Given the description of an element on the screen output the (x, y) to click on. 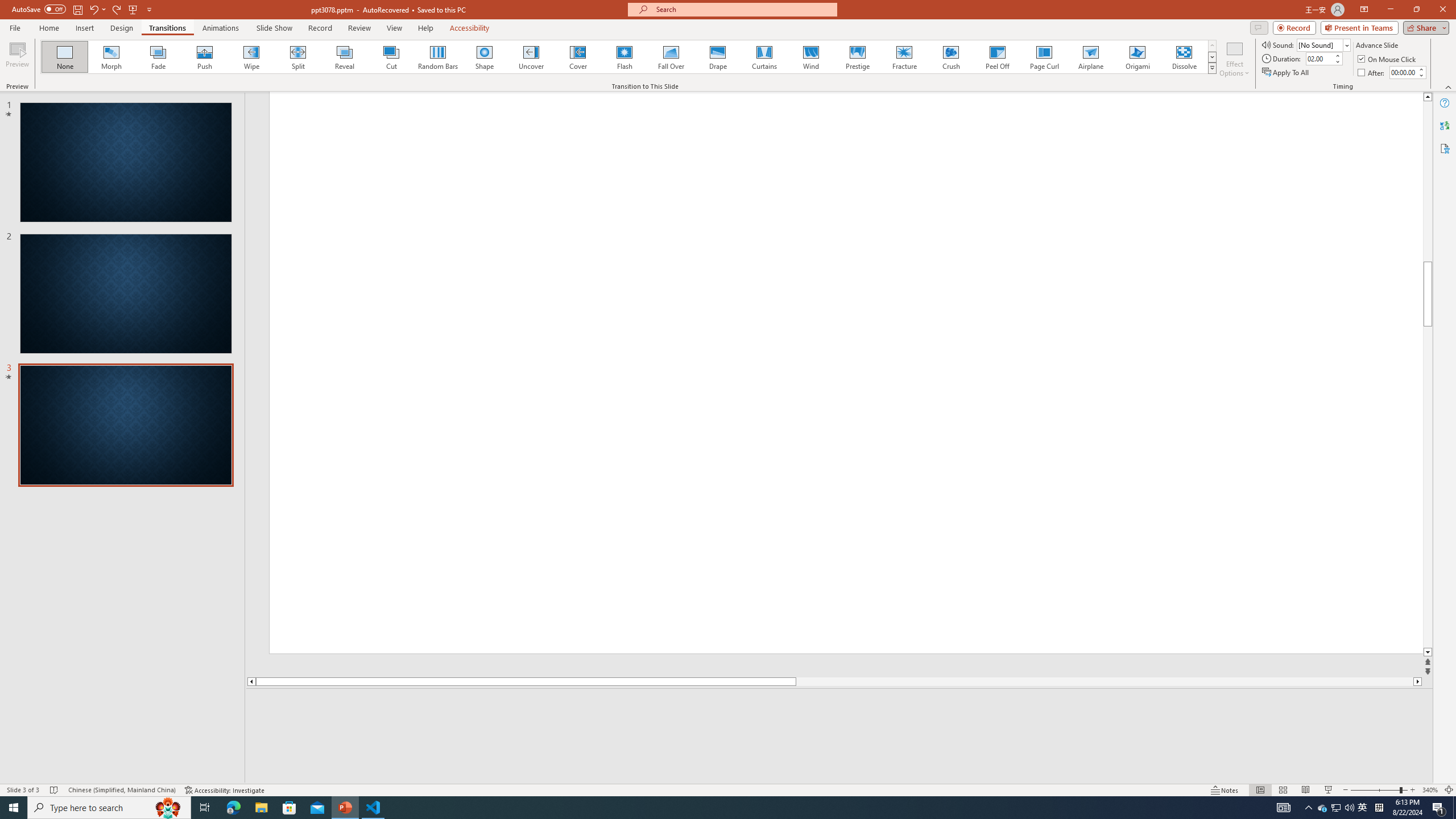
Fade (158, 56)
Origami (1136, 56)
Zoom 340% (1430, 790)
On Mouse Click (1387, 58)
Crush (950, 56)
Effect Options (1234, 58)
